Given the description of an element on the screen output the (x, y) to click on. 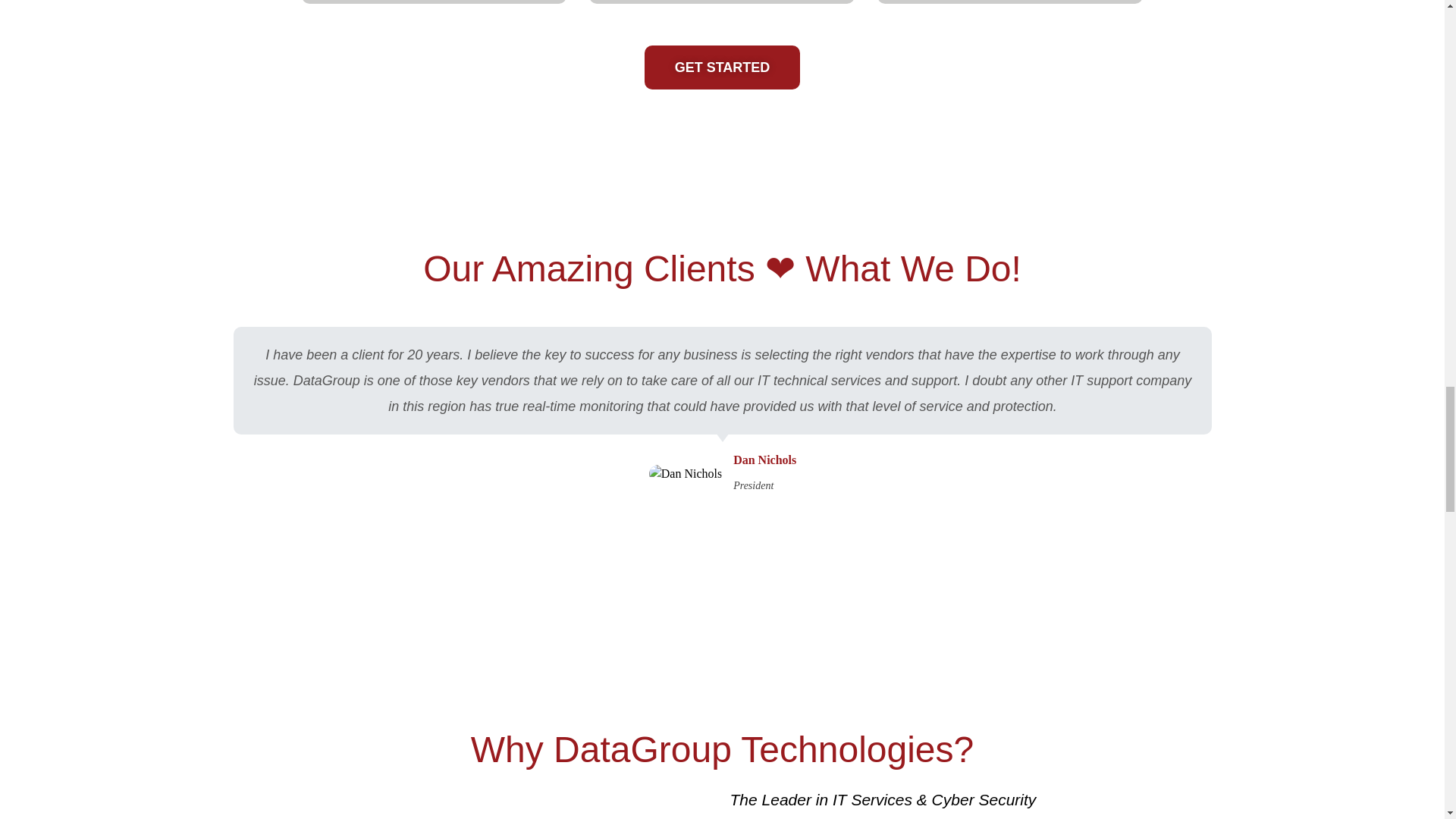
GET STARTED (722, 67)
Why DataGroup Technologies? (722, 749)
